Given the description of an element on the screen output the (x, y) to click on. 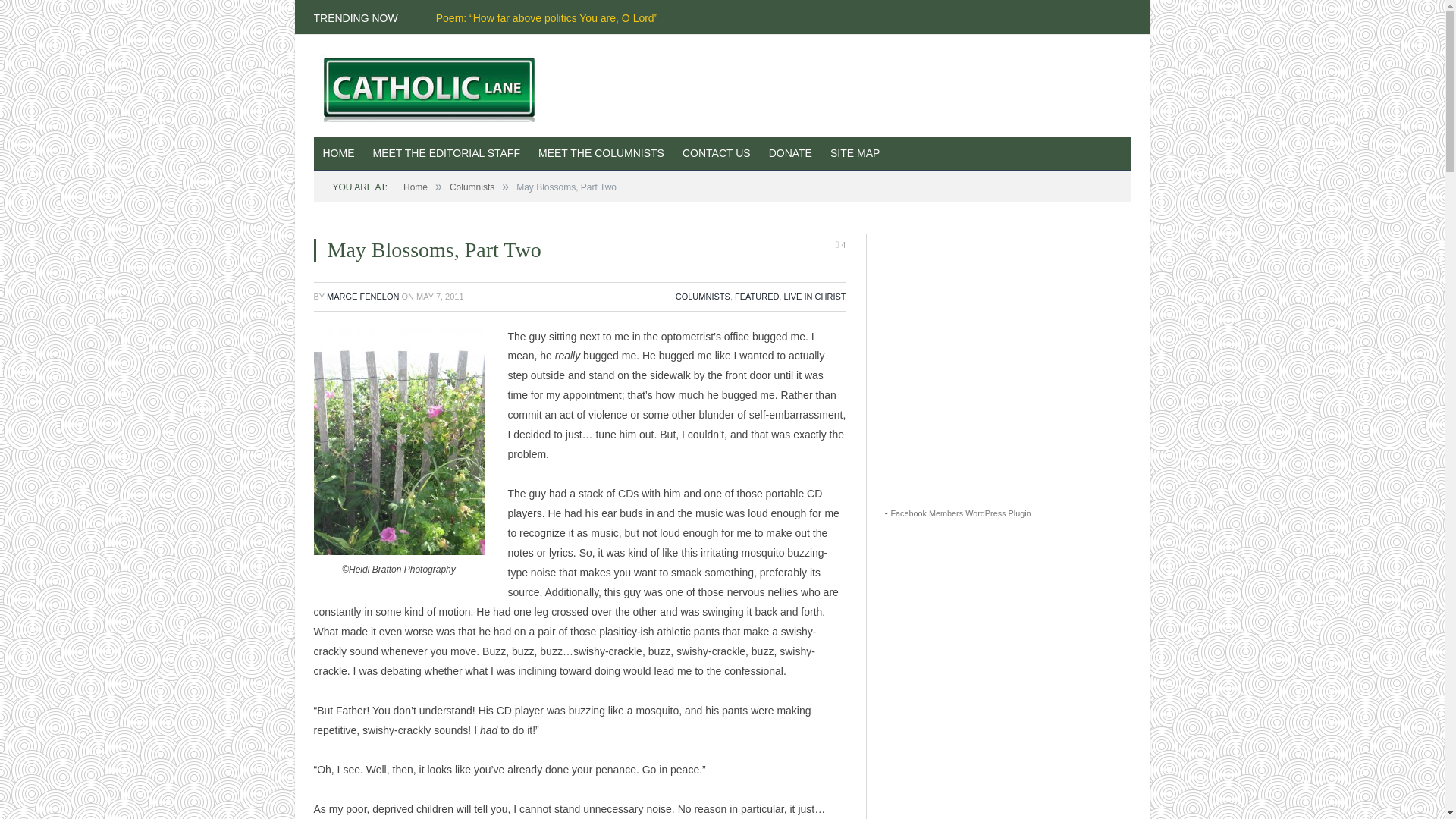
FEATURED (756, 296)
Posts by Marge Fenelon (362, 296)
HOME (339, 154)
SITE MAP (854, 154)
Columnists (600, 154)
CONTACT US (716, 154)
Catholic Lane (435, 85)
LIVE IN CHRIST (814, 296)
Columnists (472, 186)
MARGE FENELON (362, 296)
COLUMNISTS (702, 296)
MEET THE EDITORIAL STAFF (446, 154)
Home (415, 186)
MEET THE COLUMNISTS (600, 154)
Editors (446, 154)
